Given the description of an element on the screen output the (x, y) to click on. 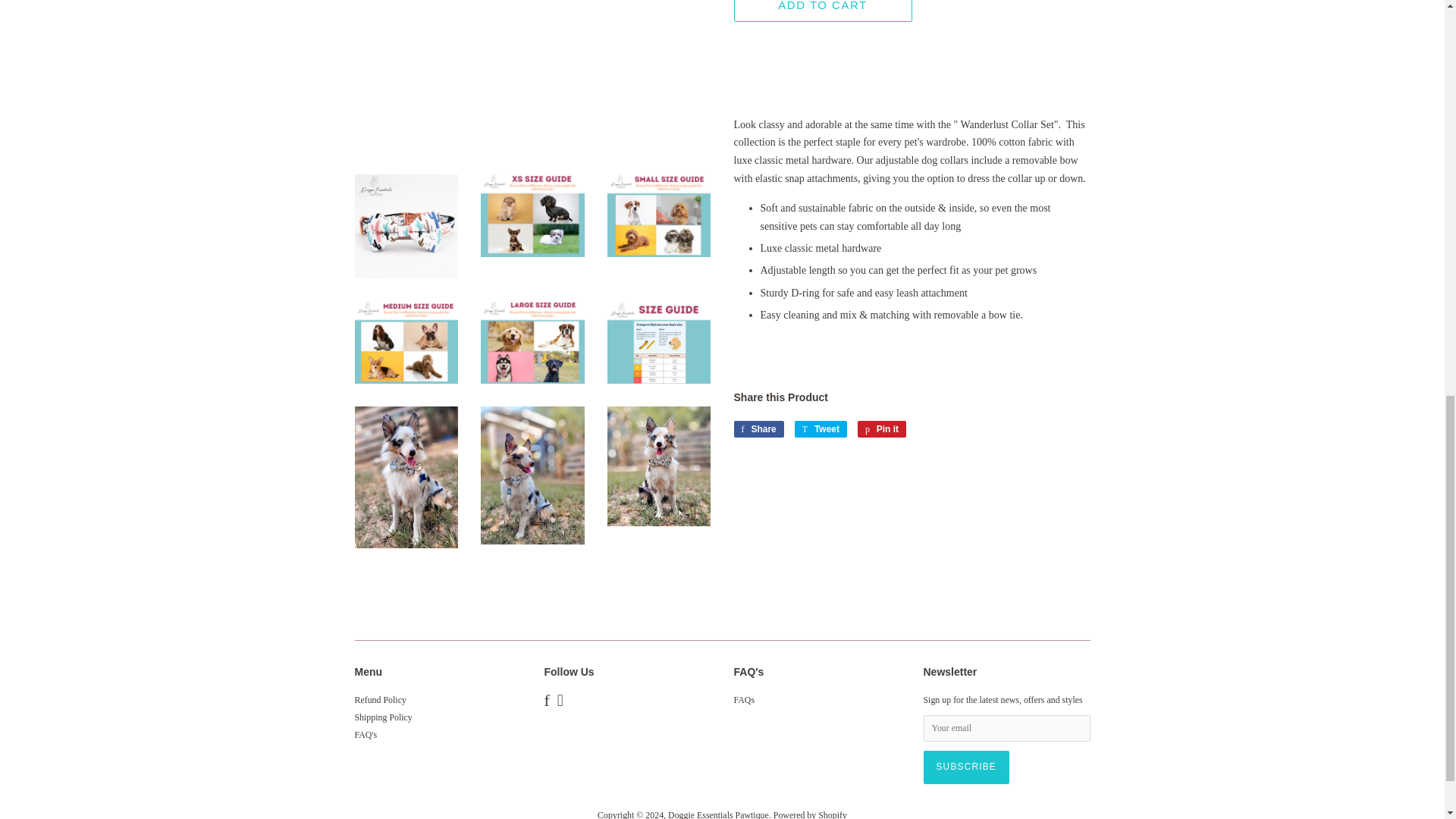
Share on Facebook (758, 428)
Pin on Pinterest (881, 428)
Tweet on Twitter (820, 428)
Subscribe (966, 767)
